Given the description of an element on the screen output the (x, y) to click on. 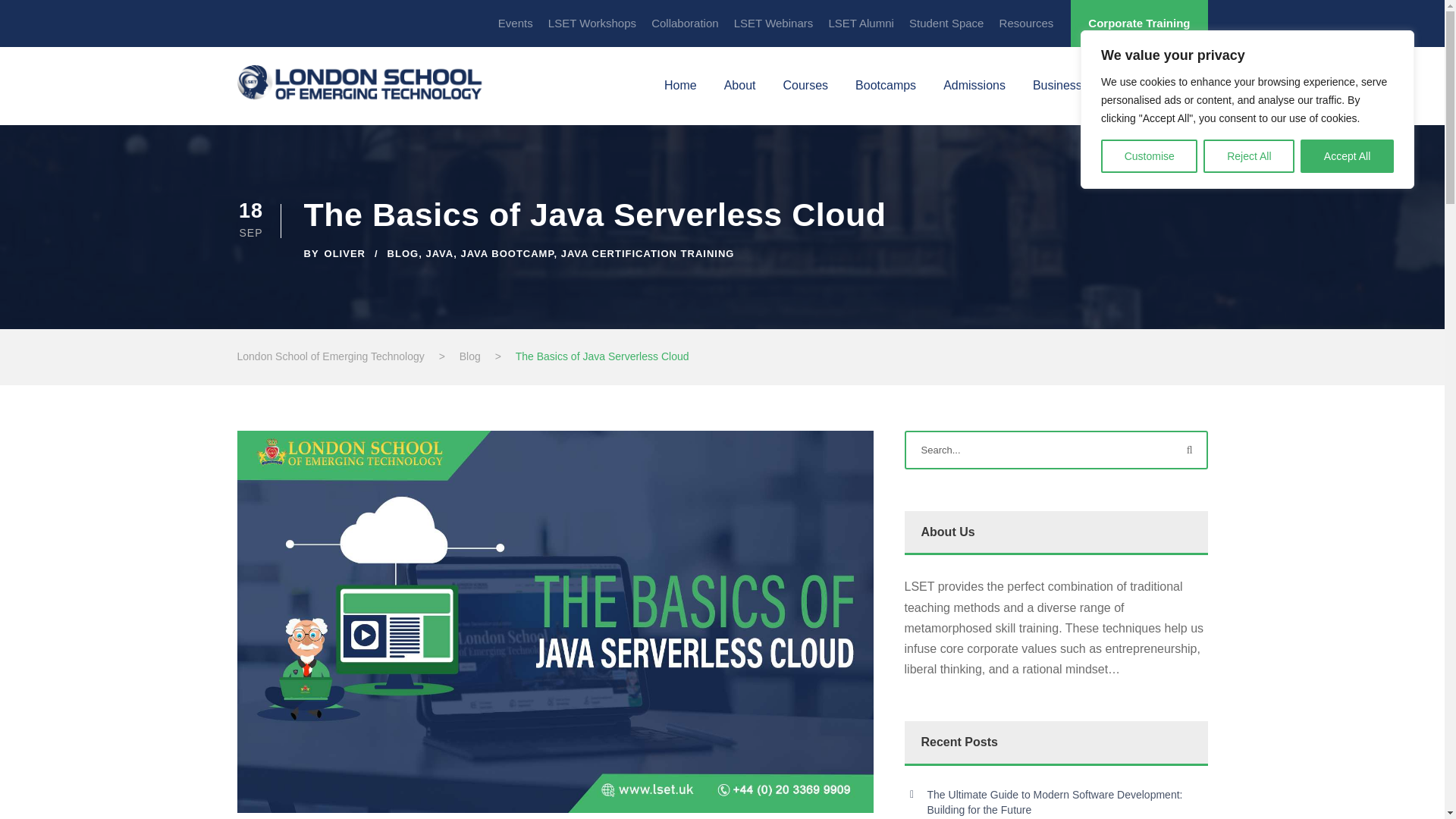
Posts by Oliver (344, 253)
Go to the Blog Category archives. (470, 356)
Go to London School of Emerging Technology. (329, 356)
